Given the description of an element on the screen output the (x, y) to click on. 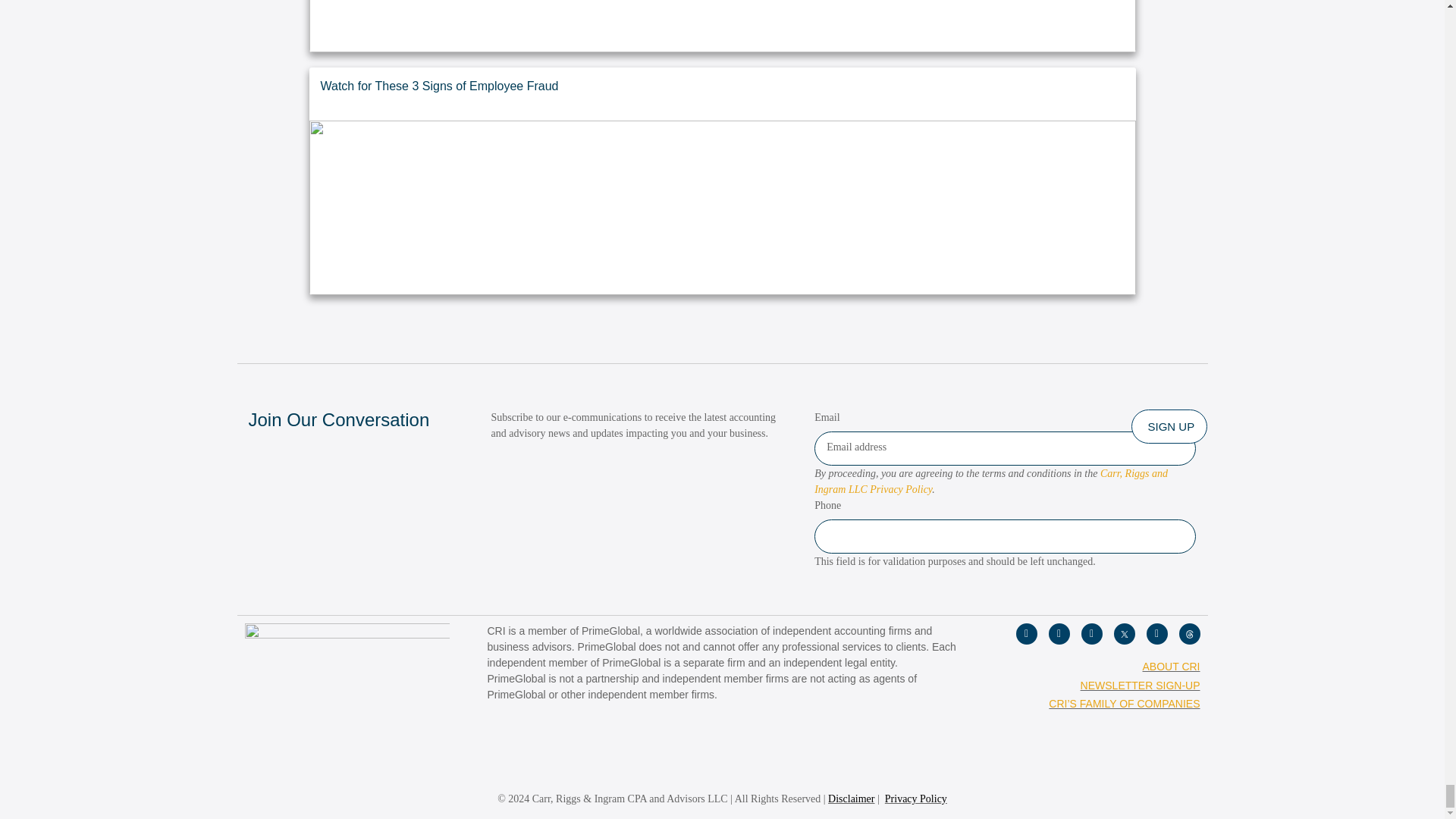
SIGN UP (1169, 426)
